Given the description of an element on the screen output the (x, y) to click on. 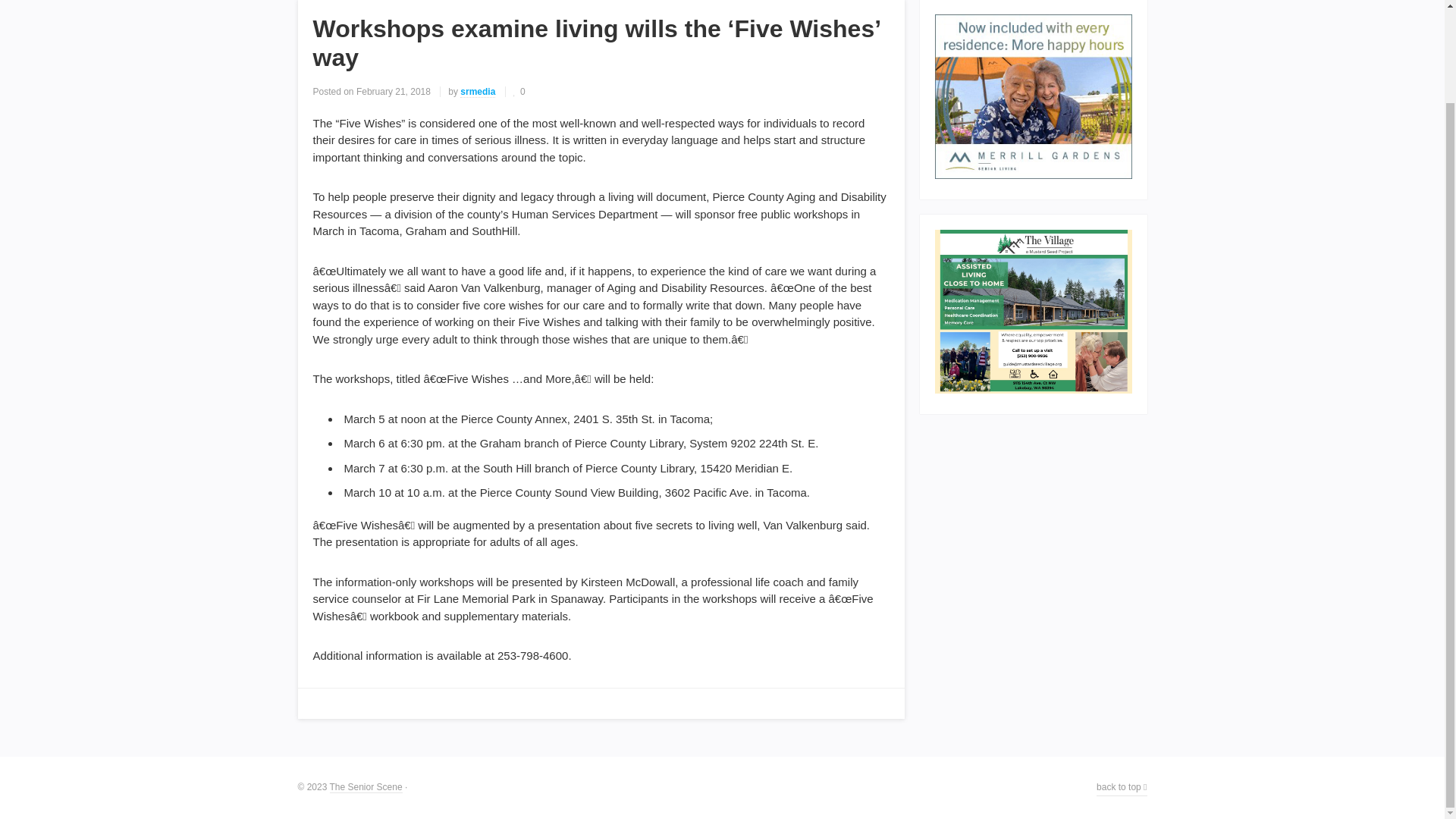
back to top (1121, 787)
Like this (519, 91)
srmedia (477, 91)
0 (519, 91)
The Senior Scene (365, 787)
